Given the description of an element on the screen output the (x, y) to click on. 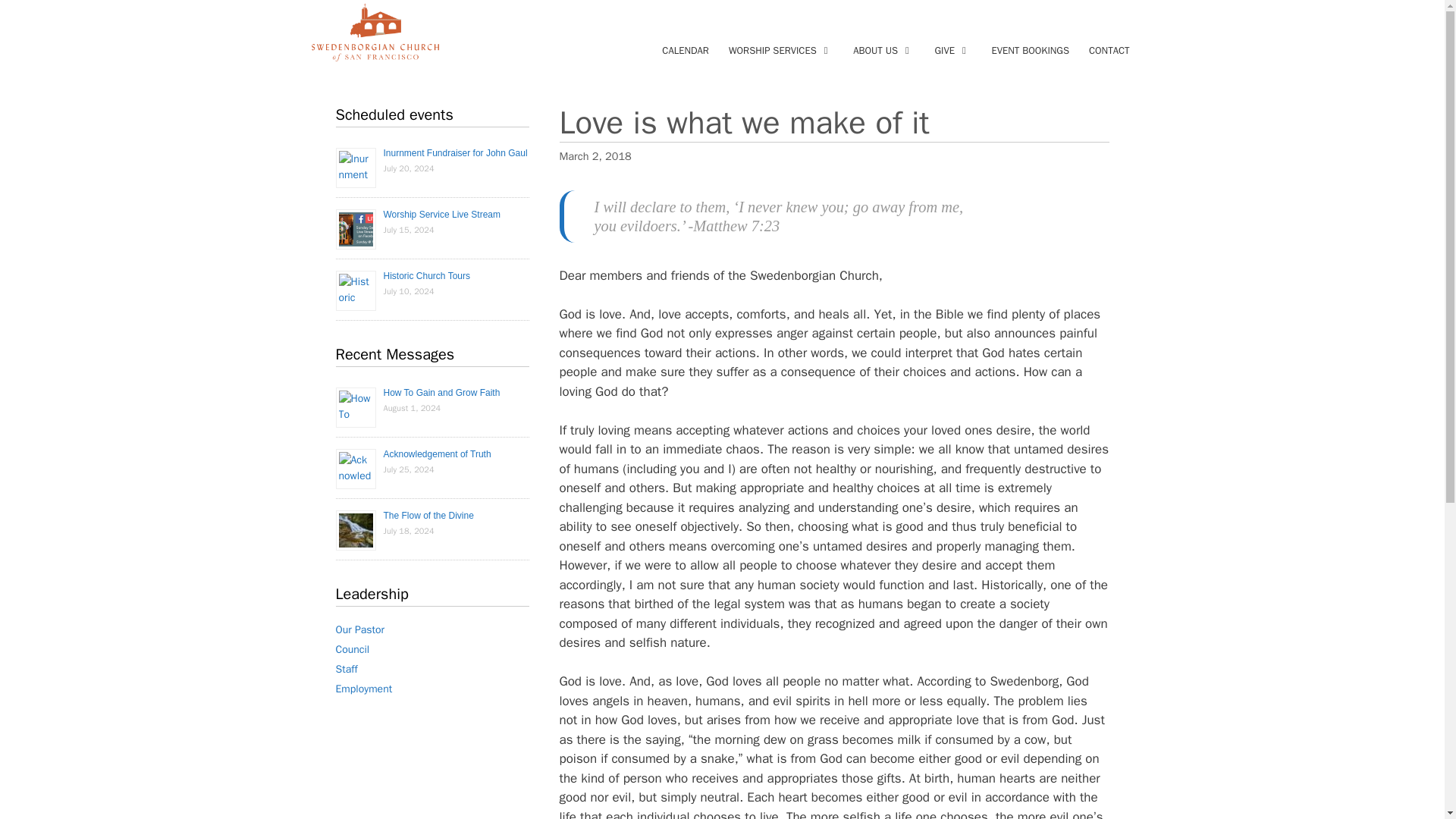
ABOUT US (883, 50)
CONTACT (1109, 50)
EVENT BOOKINGS (1029, 50)
WORSHIP SERVICES (781, 50)
GIVE (952, 50)
CALENDAR (685, 50)
